Given the description of an element on the screen output the (x, y) to click on. 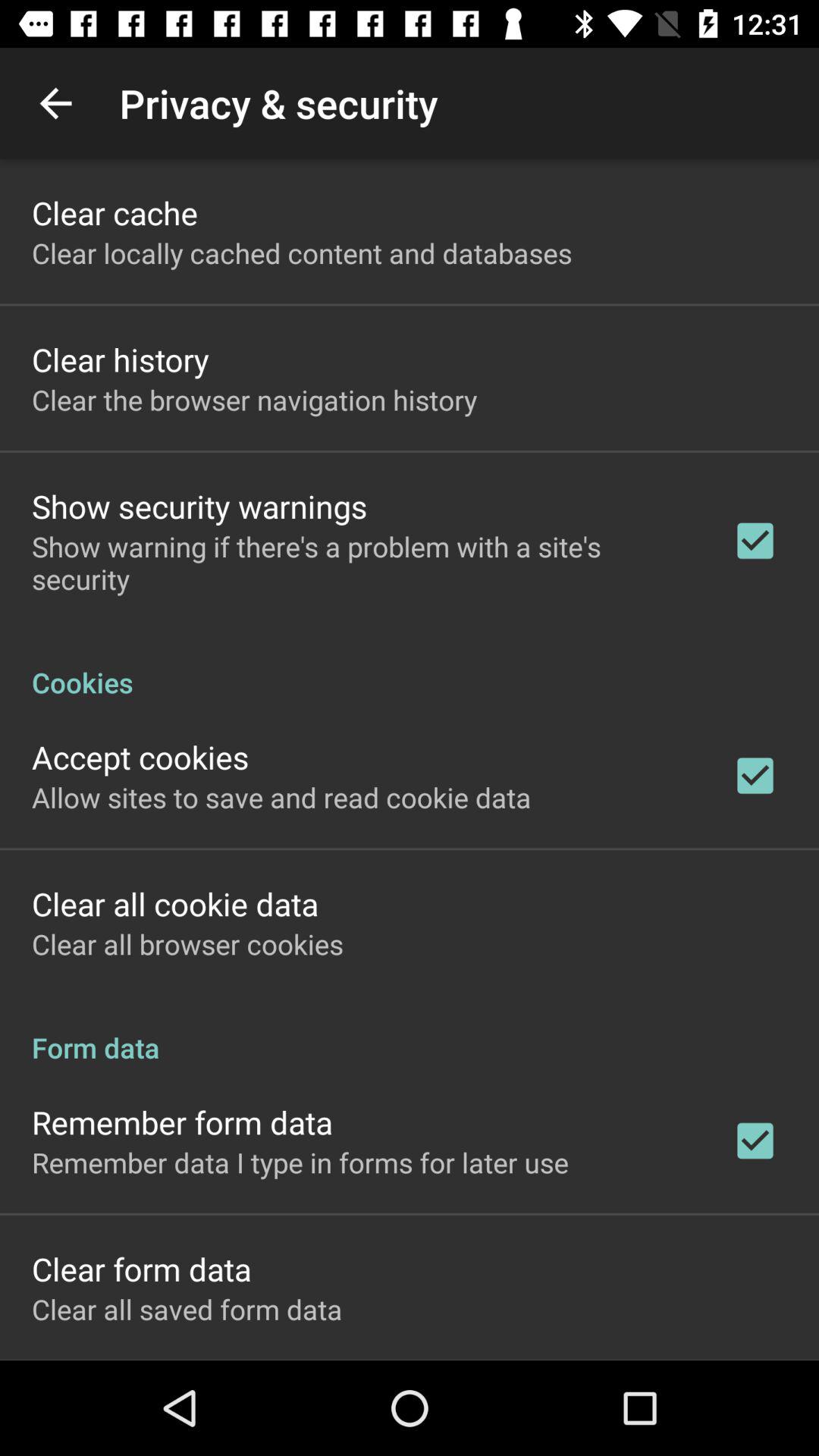
press icon to the left of privacy & security item (55, 103)
